Given the description of an element on the screen output the (x, y) to click on. 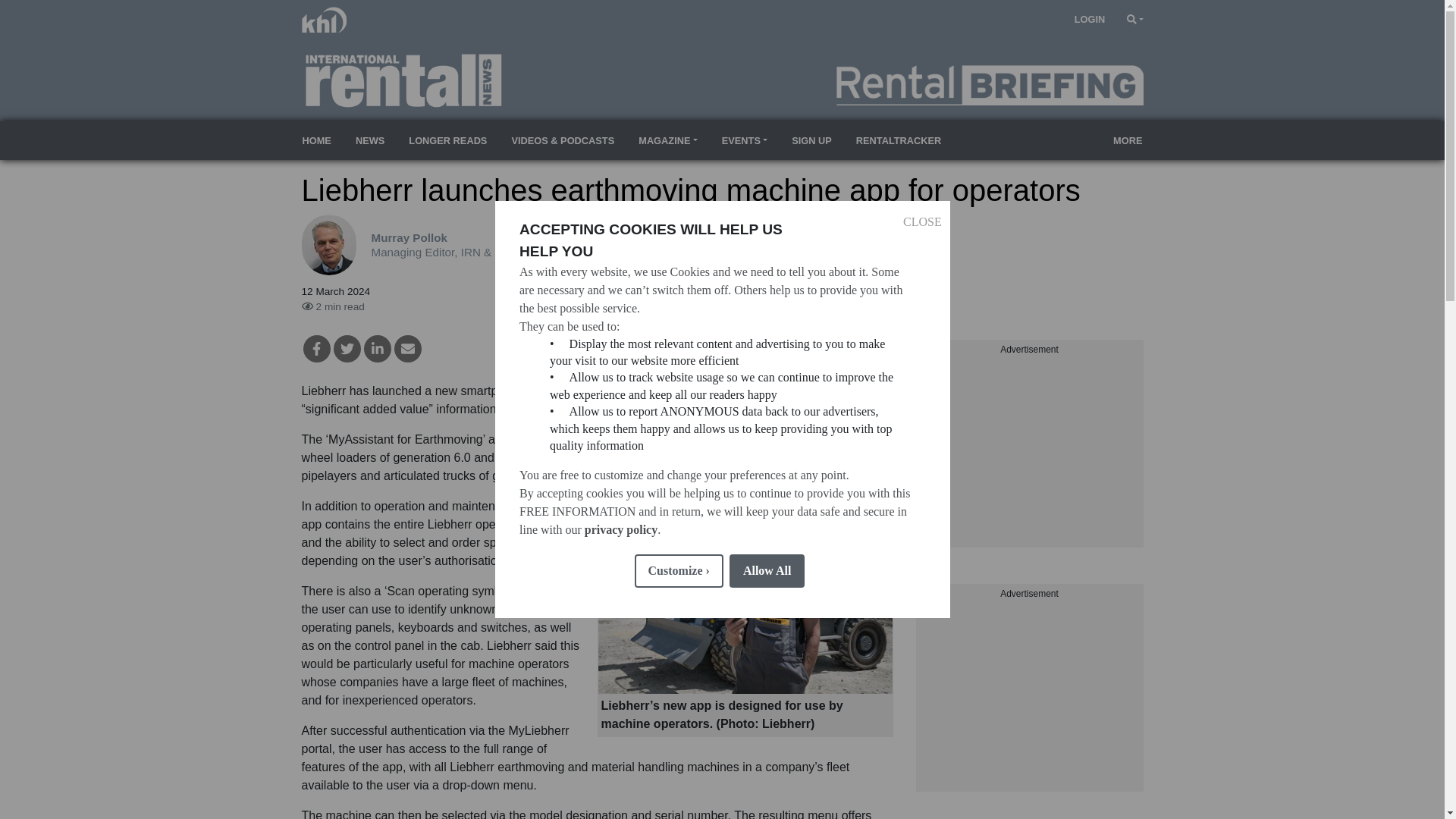
Share this page on Facebook (316, 348)
Share this page via email (408, 348)
Share this page on Linkedin (377, 348)
Share this page on Twitter (347, 348)
3rd party ad content (1028, 452)
3rd party ad content (1028, 696)
